Given the description of an element on the screen output the (x, y) to click on. 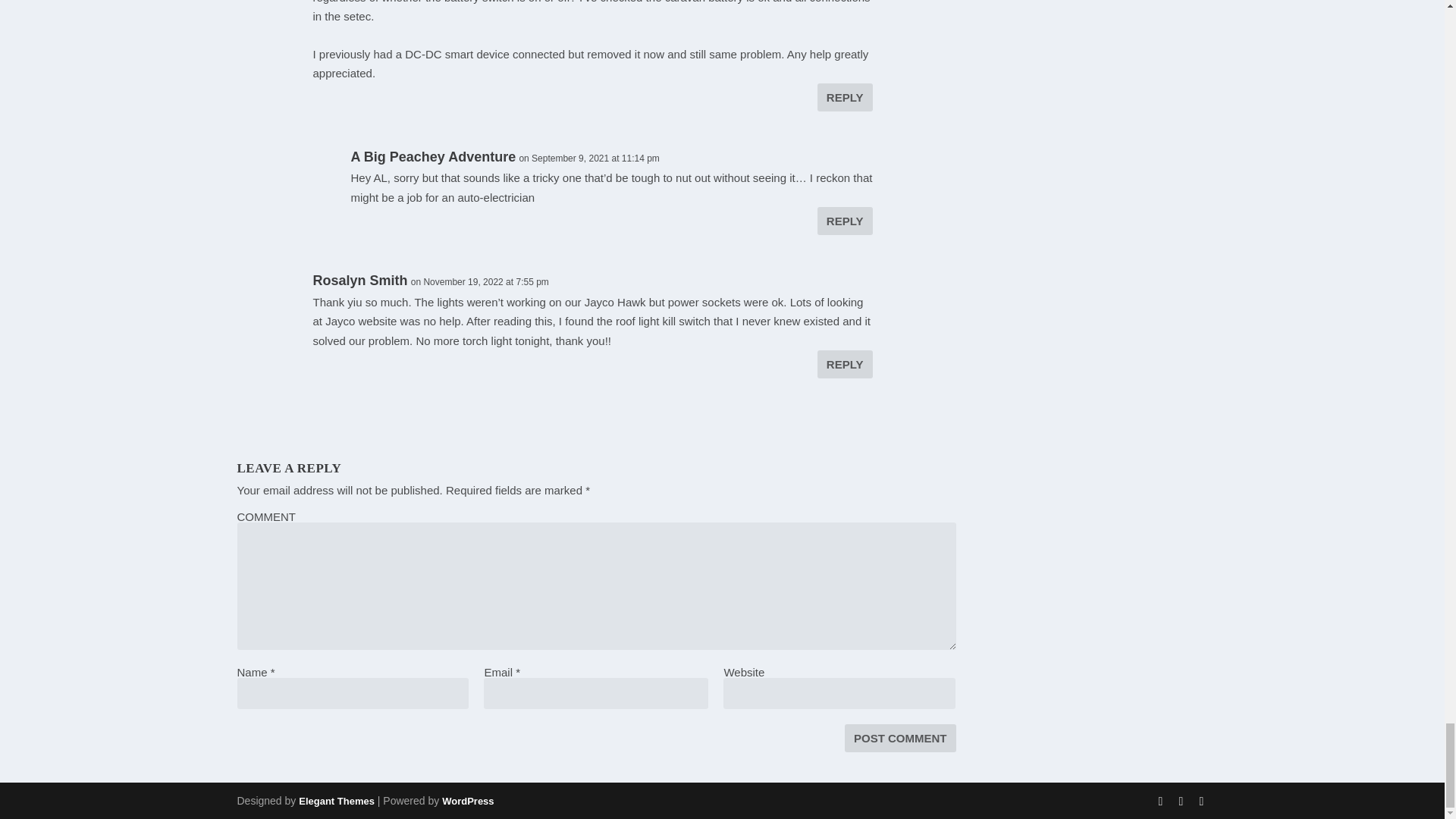
Post Comment (900, 737)
Post Comment (900, 737)
WordPress (467, 800)
REPLY (844, 221)
REPLY (844, 364)
REPLY (844, 97)
Elegant Themes (336, 800)
Premium WordPress Themes (336, 800)
